Given the description of an element on the screen output the (x, y) to click on. 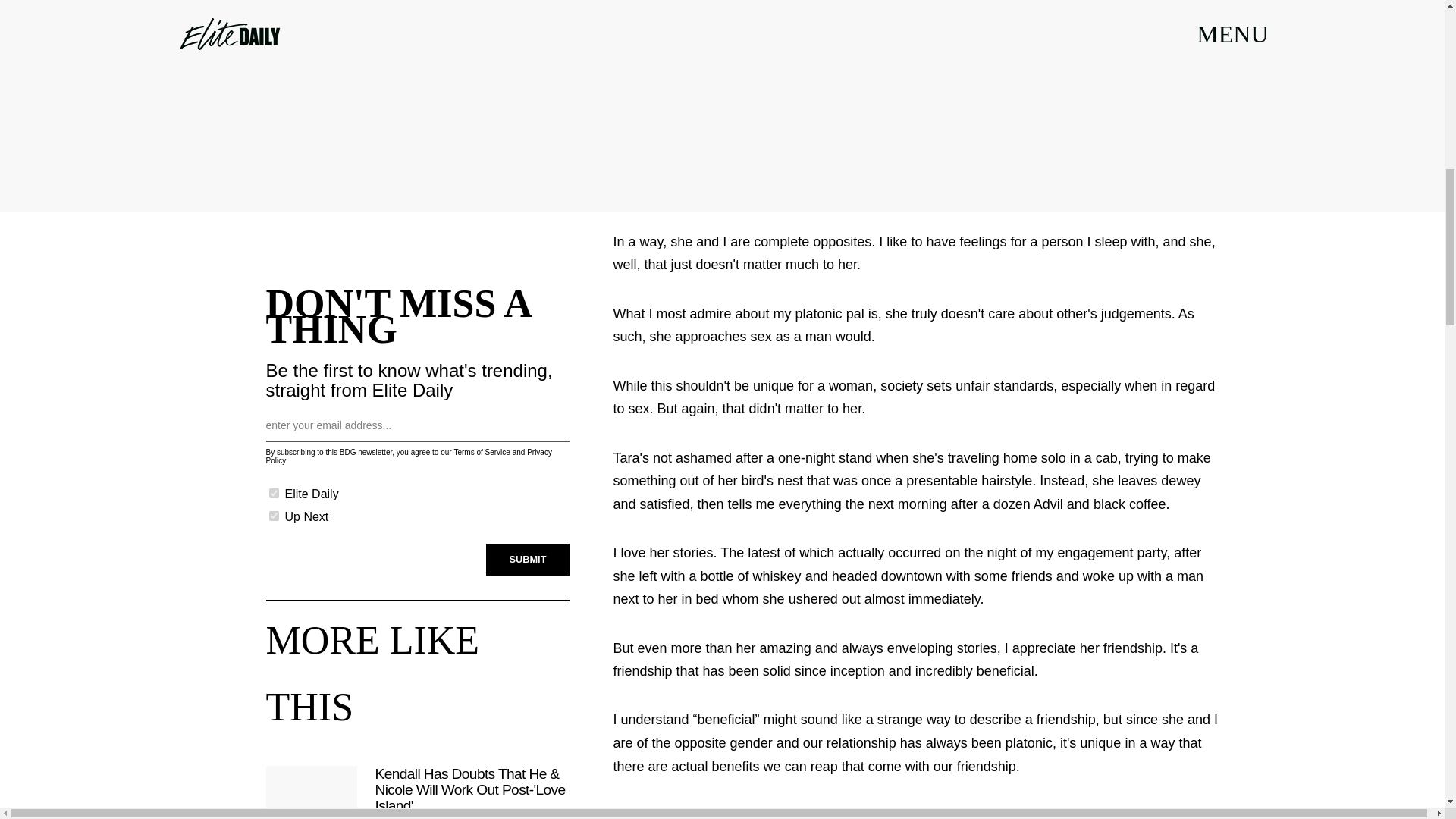
Privacy Policy (407, 451)
Terms of Service (480, 445)
SUBMIT (527, 552)
